Given the description of an element on the screen output the (x, y) to click on. 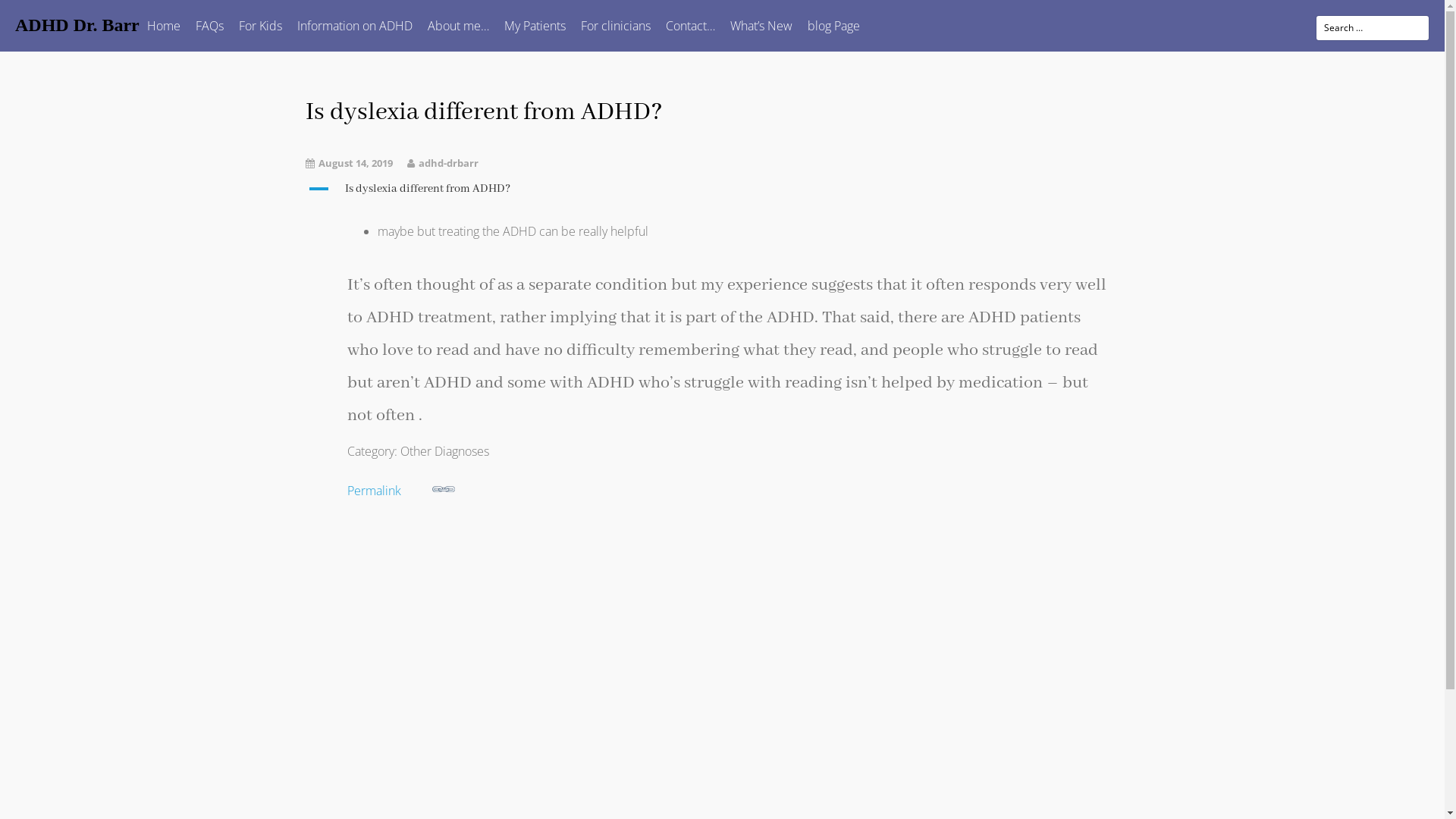
Search for: Element type: hover (1372, 27)
A
Is dyslexia different from ADHD? Element type: text (721, 188)
Home Element type: text (163, 25)
blog Page Element type: text (833, 25)
For Kids Element type: text (260, 25)
My Patients Element type: text (534, 25)
Information on ADHD Element type: text (354, 25)
For clinicians Element type: text (615, 25)
Search Element type: text (32, 15)
FAQs Element type: text (209, 25)
Permalink Element type: text (733, 487)
ADHD Dr. Barr Element type: text (77, 25)
